Given the description of an element on the screen output the (x, y) to click on. 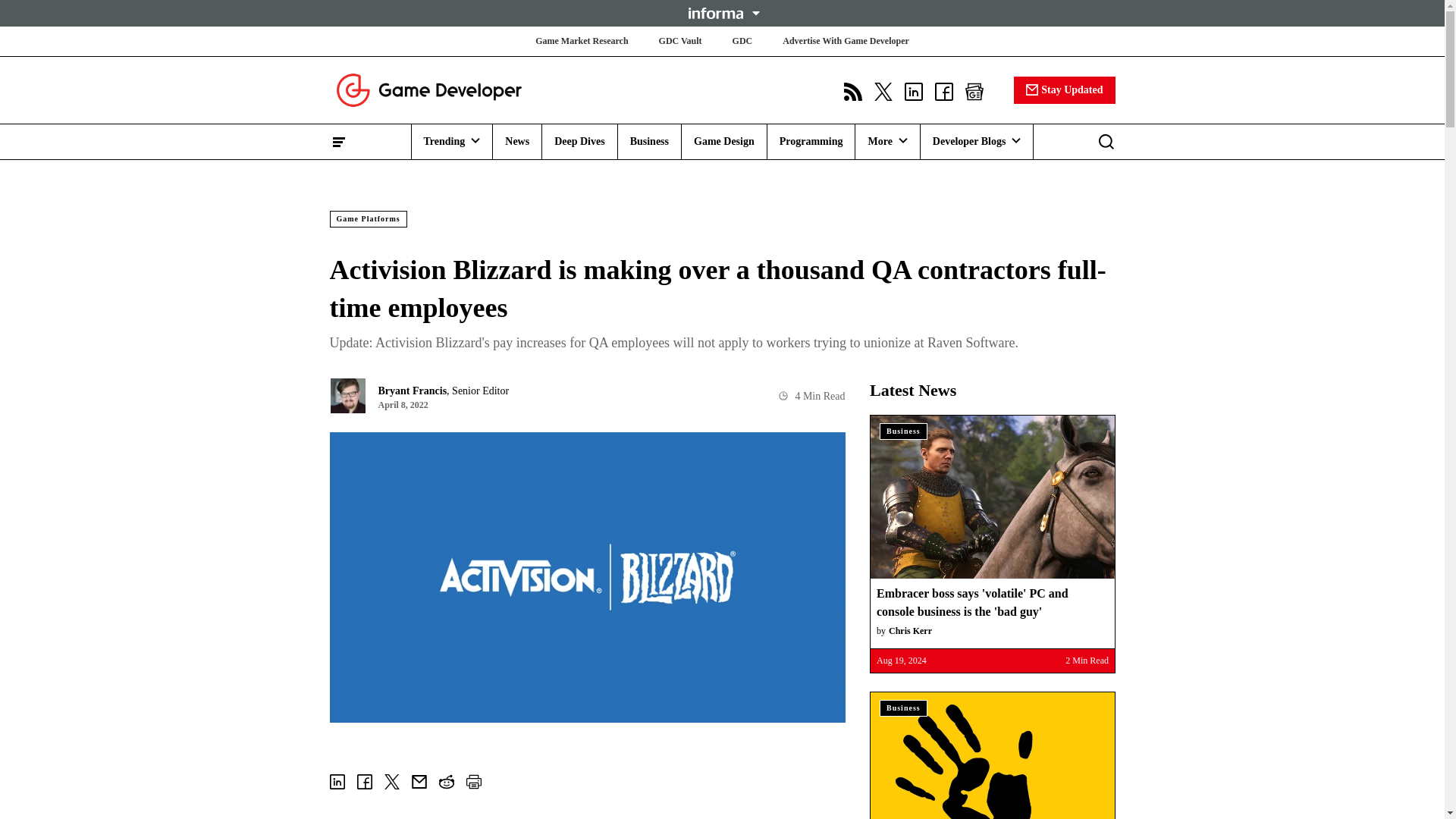
GDC Vault (680, 41)
Game Design (724, 141)
Deep Dives (579, 141)
Stay Updated (1064, 89)
GDC (742, 41)
Business (649, 141)
News (517, 141)
Picture of Bryant Francis (347, 395)
Game Developer Logo (428, 90)
